Given the description of an element on the screen output the (x, y) to click on. 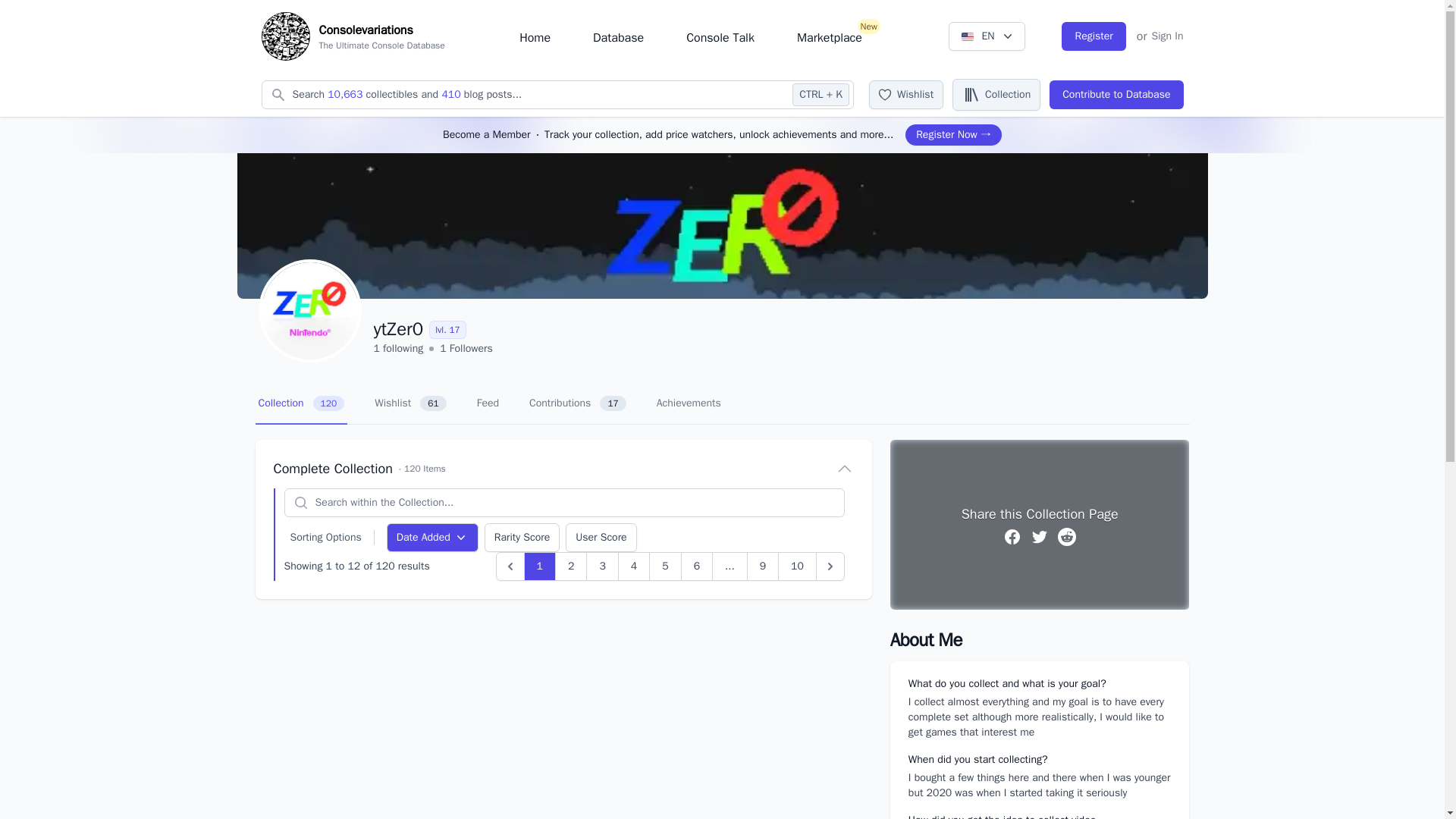
Wishlist (690, 36)
EN (906, 94)
Collection (987, 36)
Register (996, 94)
Sign In (1093, 36)
Home (1167, 36)
Marketplace (535, 37)
Console Talk (828, 37)
